Given the description of an element on the screen output the (x, y) to click on. 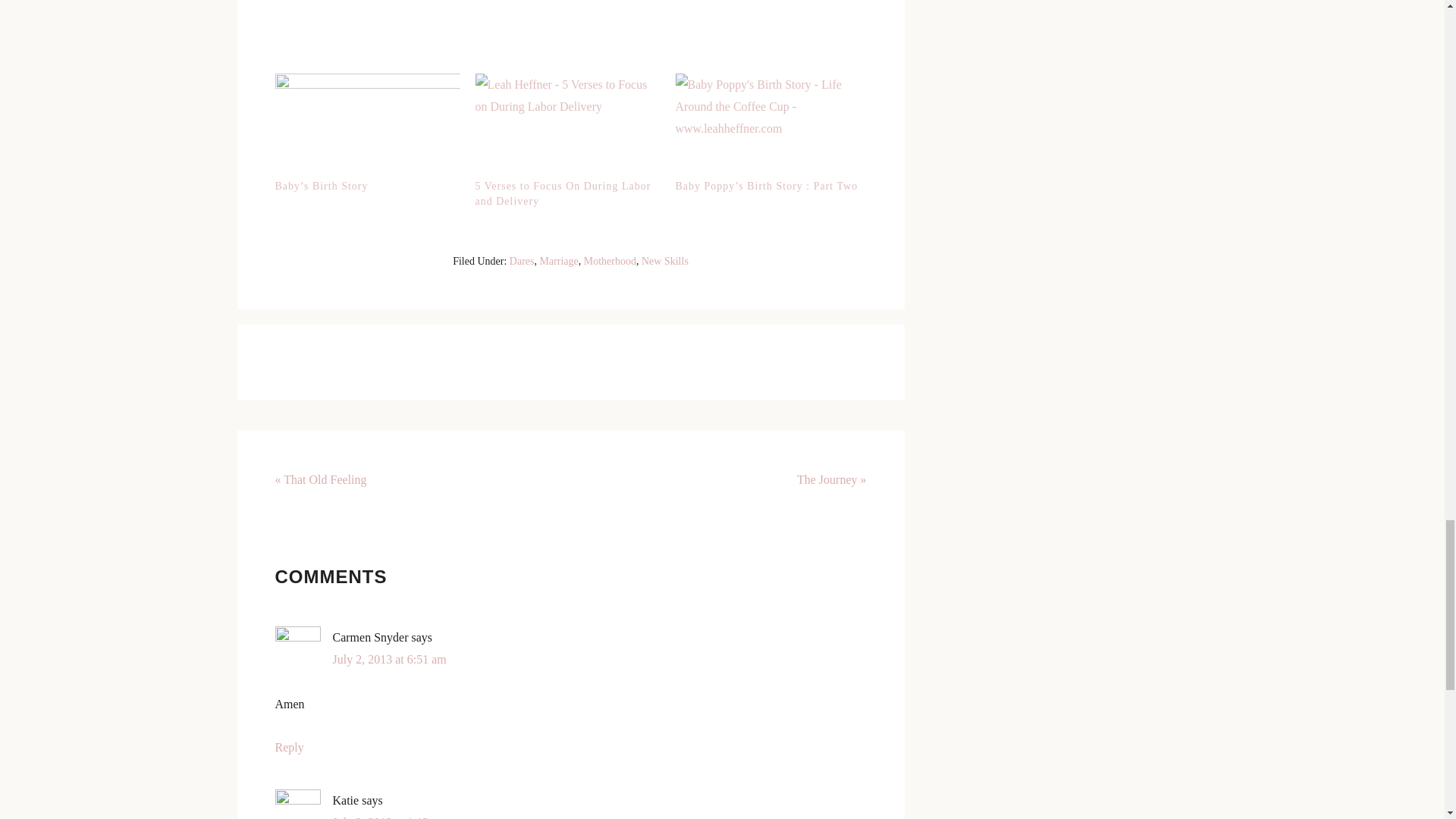
Marriage (558, 260)
July 2, 2013 at 1:13 pm (388, 817)
Motherhood (609, 260)
July 2, 2013 at 6:51 am (388, 658)
Dares (521, 260)
5 Verses to Focus On During Labor and Delivery (562, 193)
5 Verses to Focus On During Labor and Delivery (566, 126)
Reply (288, 747)
New Skills (665, 260)
5 Verses to Focus On During Labor and Delivery (562, 193)
